Given the description of an element on the screen output the (x, y) to click on. 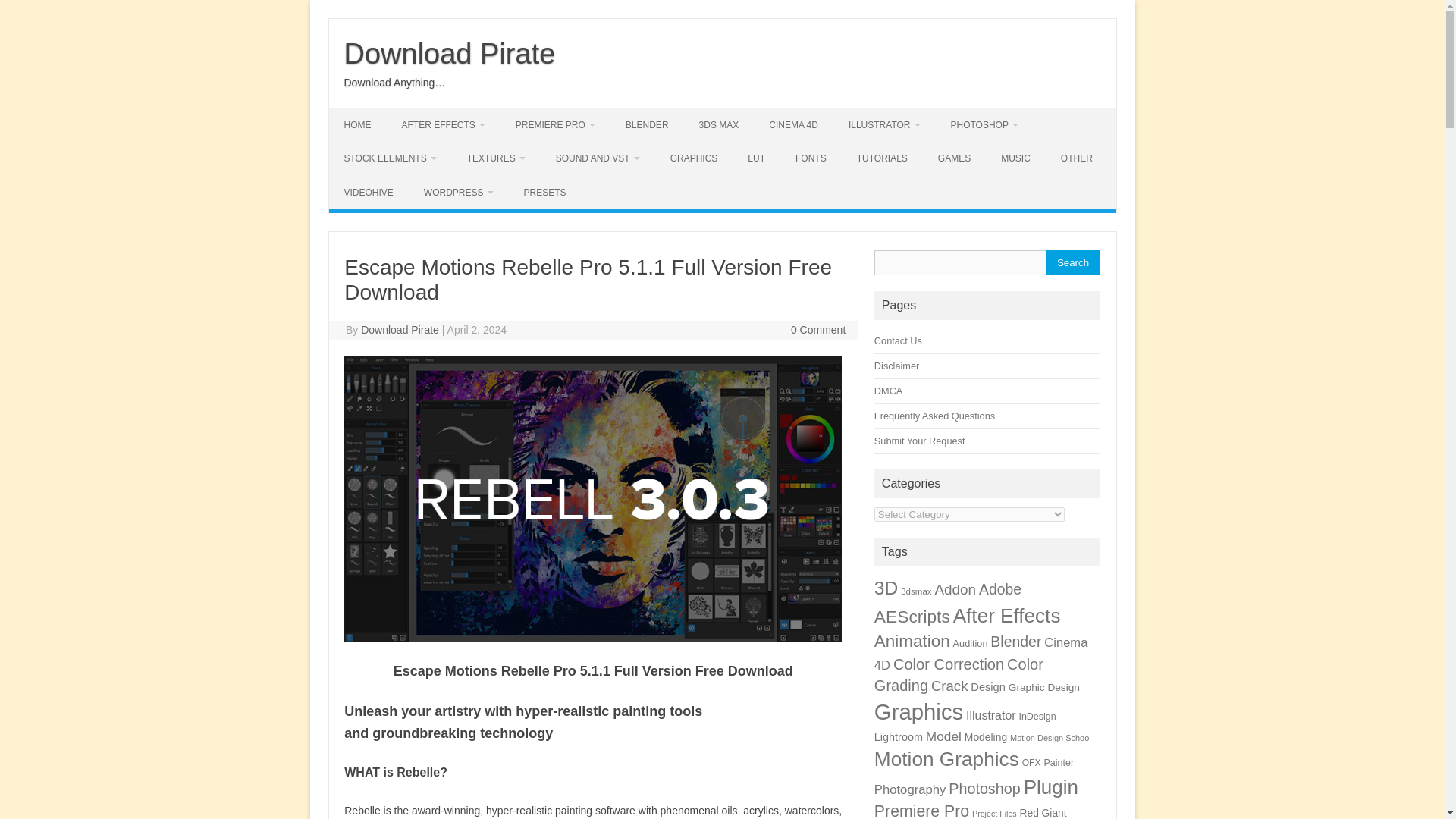
TUTORIALS (882, 158)
STOCK ELEMENTS (390, 158)
Download Pirate (449, 53)
ILLUSTRATOR (884, 124)
PREMIERE PRO (555, 124)
Search (1072, 262)
Download Pirate (449, 53)
MUSIC (1015, 158)
